Given the description of an element on the screen output the (x, y) to click on. 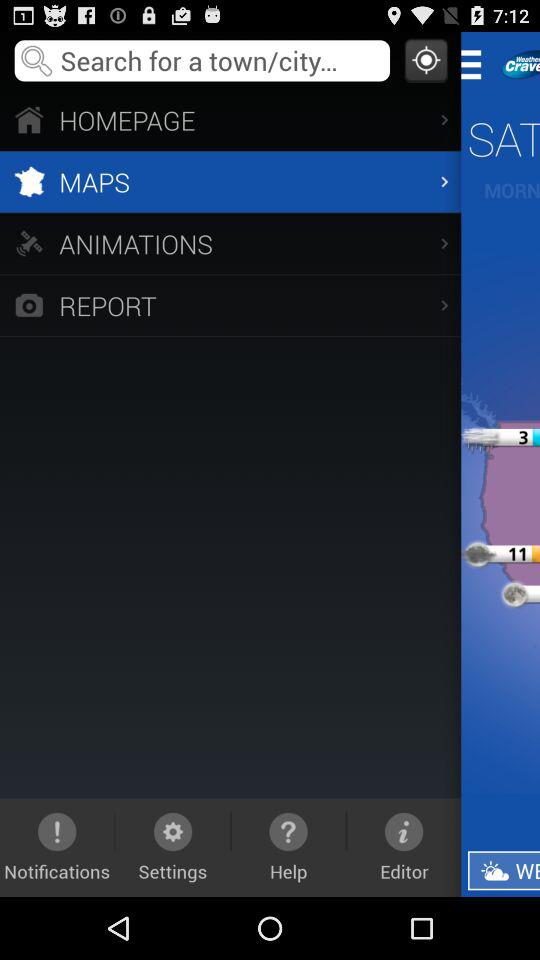
select animations (230, 243)
